Given the description of an element on the screen output the (x, y) to click on. 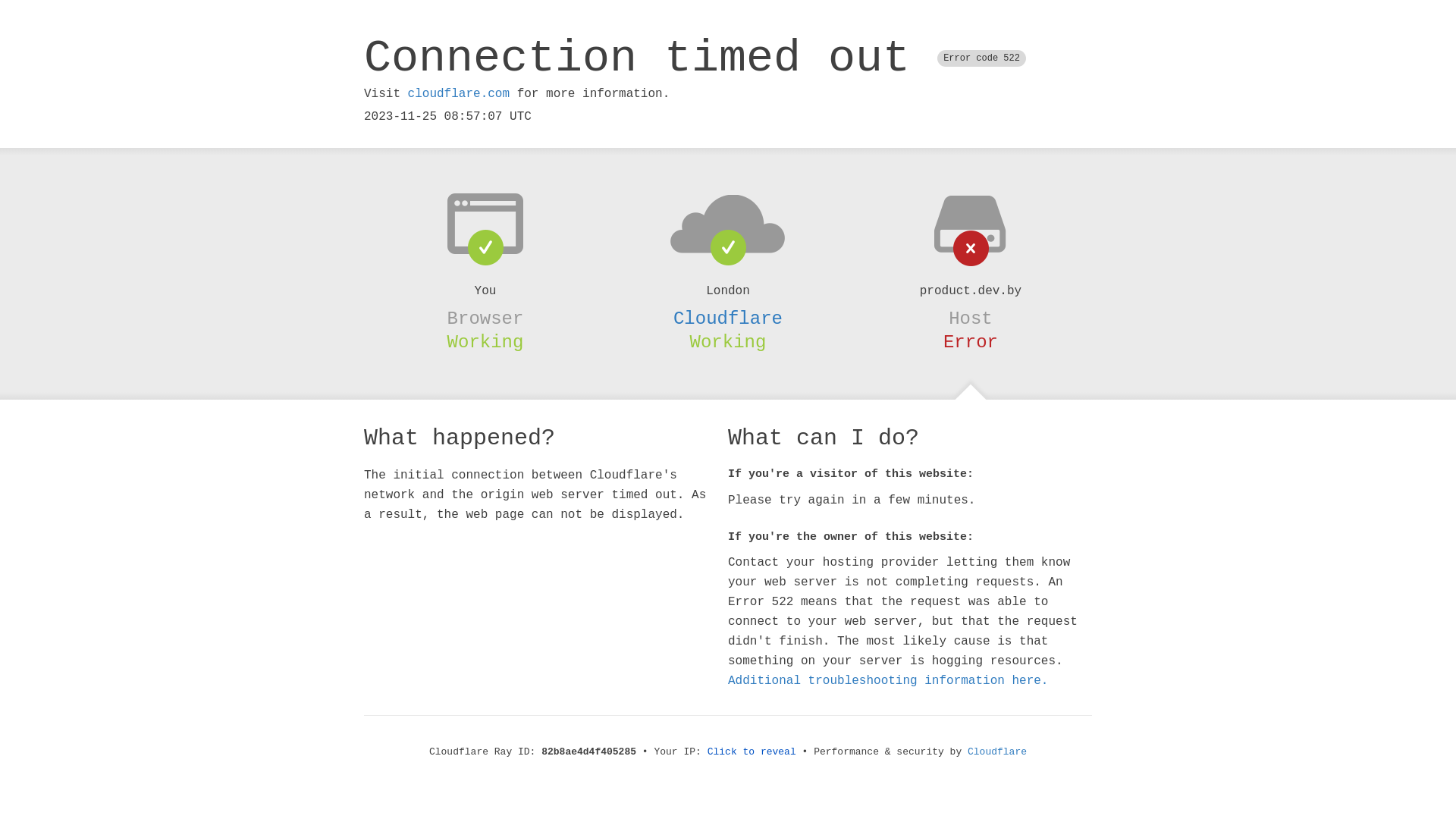
Cloudflare Element type: text (996, 751)
cloudflare.com Element type: text (458, 93)
Cloudflare Element type: text (727, 318)
Additional troubleshooting information here. Element type: text (888, 680)
Click to reveal Element type: text (751, 751)
